Given the description of an element on the screen output the (x, y) to click on. 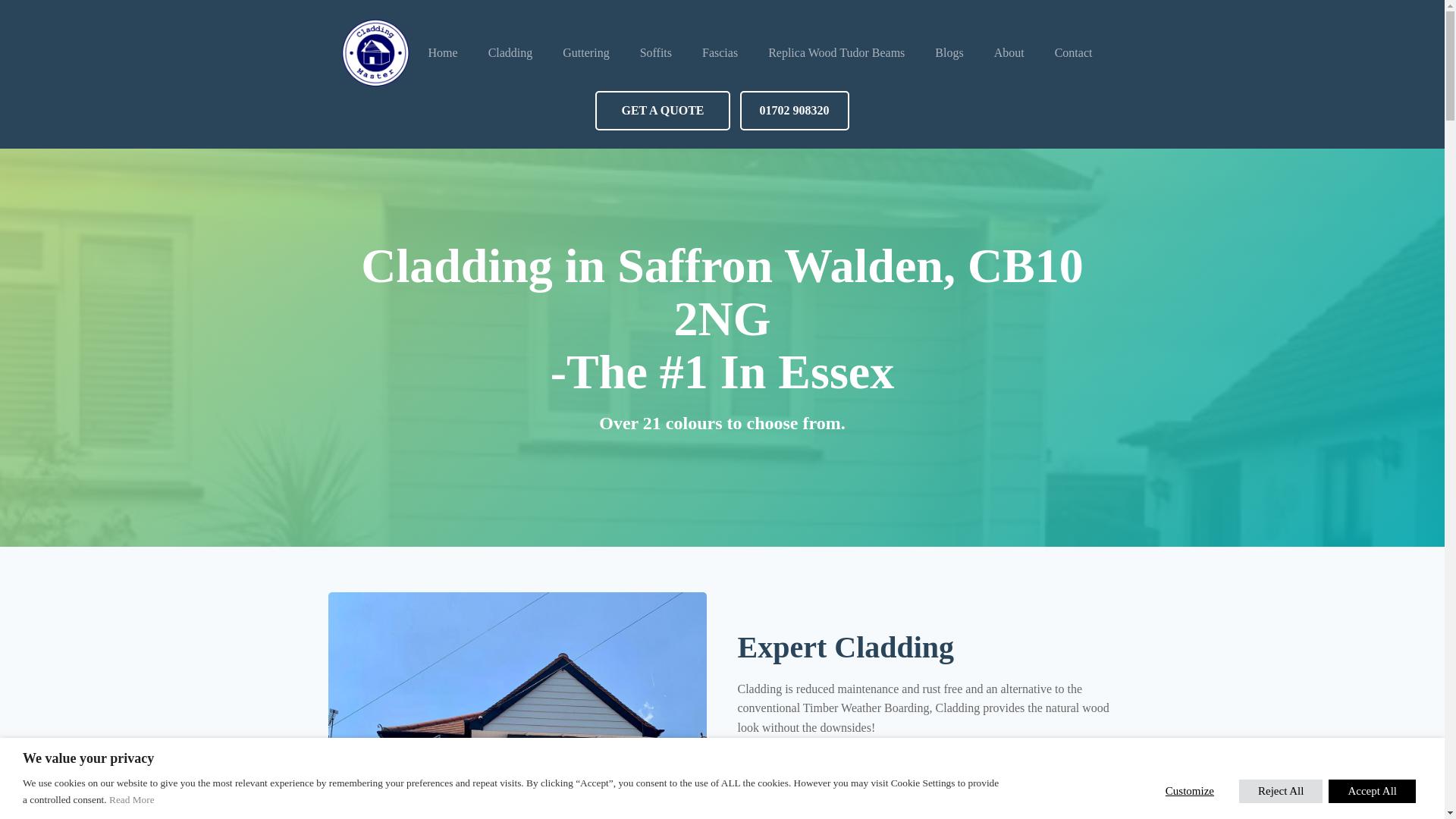
About (1008, 53)
Fascias (719, 53)
Contact (1073, 53)
Blogs (949, 53)
Soffits (655, 53)
GET A QUOTE (662, 110)
Replica Wood Tudor Beams (836, 53)
01702 908320 (793, 110)
Home (443, 53)
Cladding (510, 53)
